Given the description of an element on the screen output the (x, y) to click on. 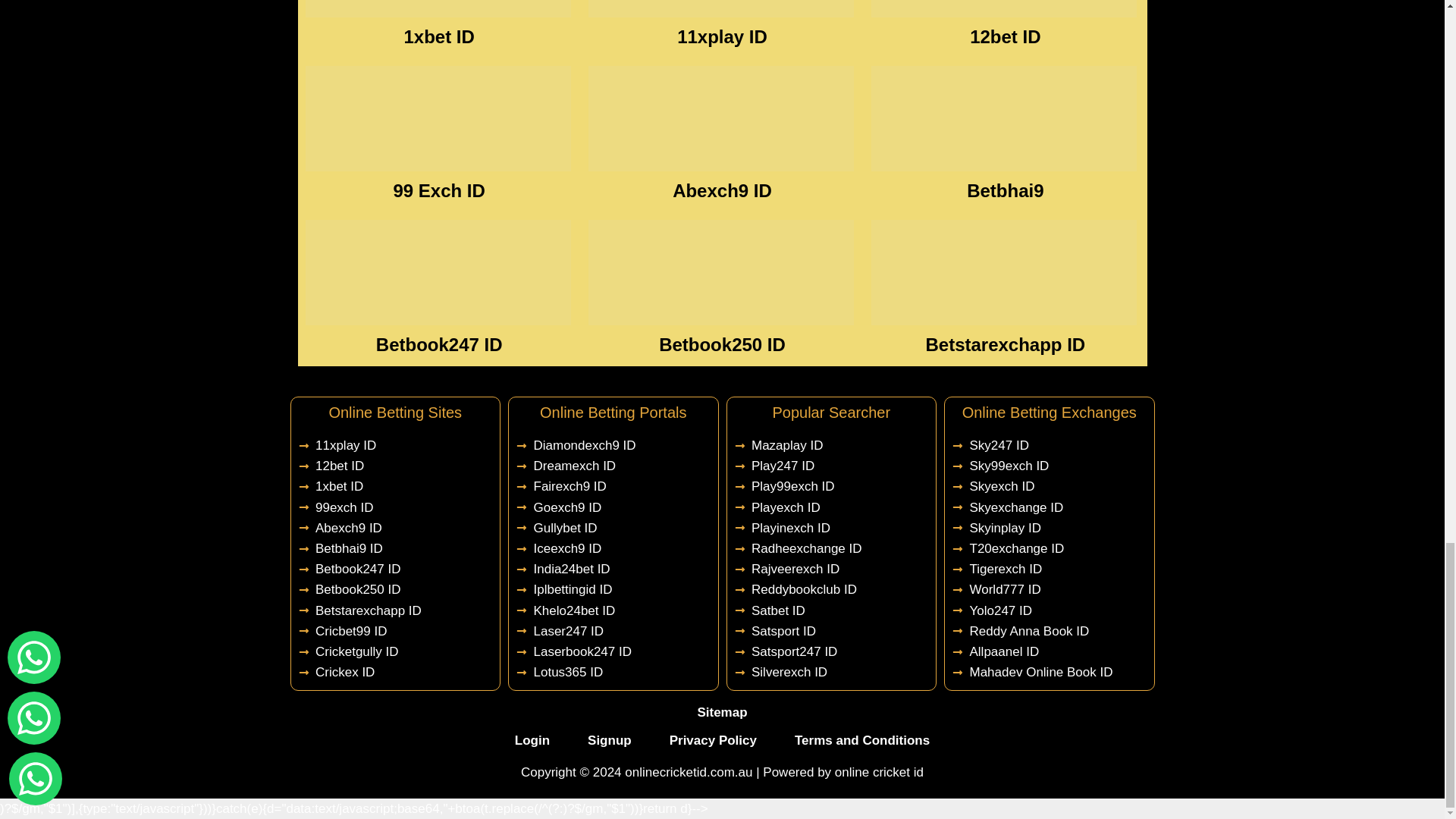
12bet ID (1005, 36)
Betbhai9 (1004, 190)
Betbook247 ID (438, 344)
1xbet ID (438, 36)
Abexch9 ID (721, 190)
99 Exch ID (438, 190)
11xplay ID (722, 36)
